Given the description of an element on the screen output the (x, y) to click on. 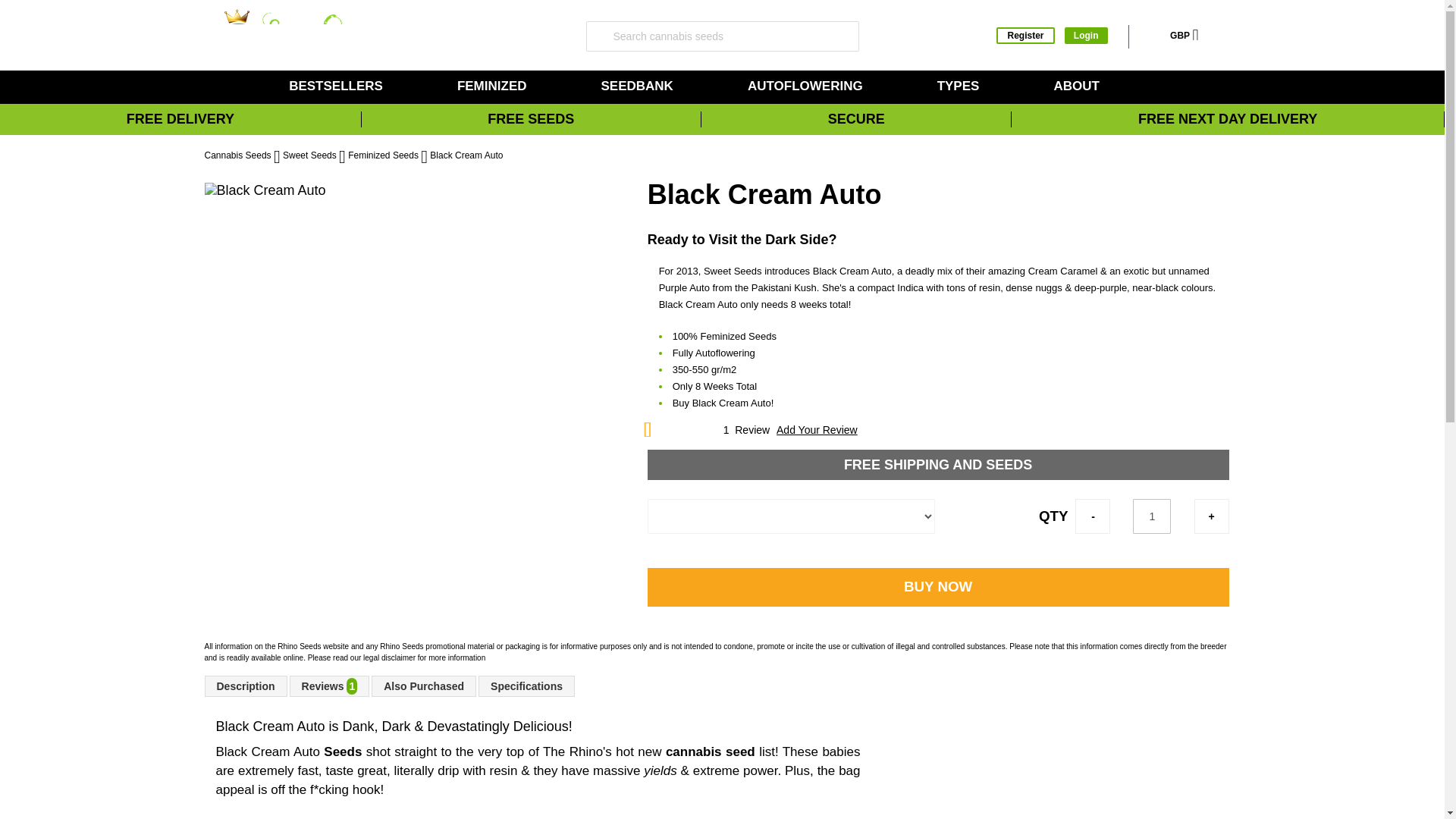
BESTSELLERS (338, 87)
Login (1086, 35)
1 (1151, 515)
Feminized Seeds (494, 87)
home (238, 85)
SEEDBANK (639, 87)
FEMINIZED (494, 87)
My Cart (1218, 35)
Register (1024, 35)
Best Selling Cannabis Seeds (338, 87)
